Given the description of an element on the screen output the (x, y) to click on. 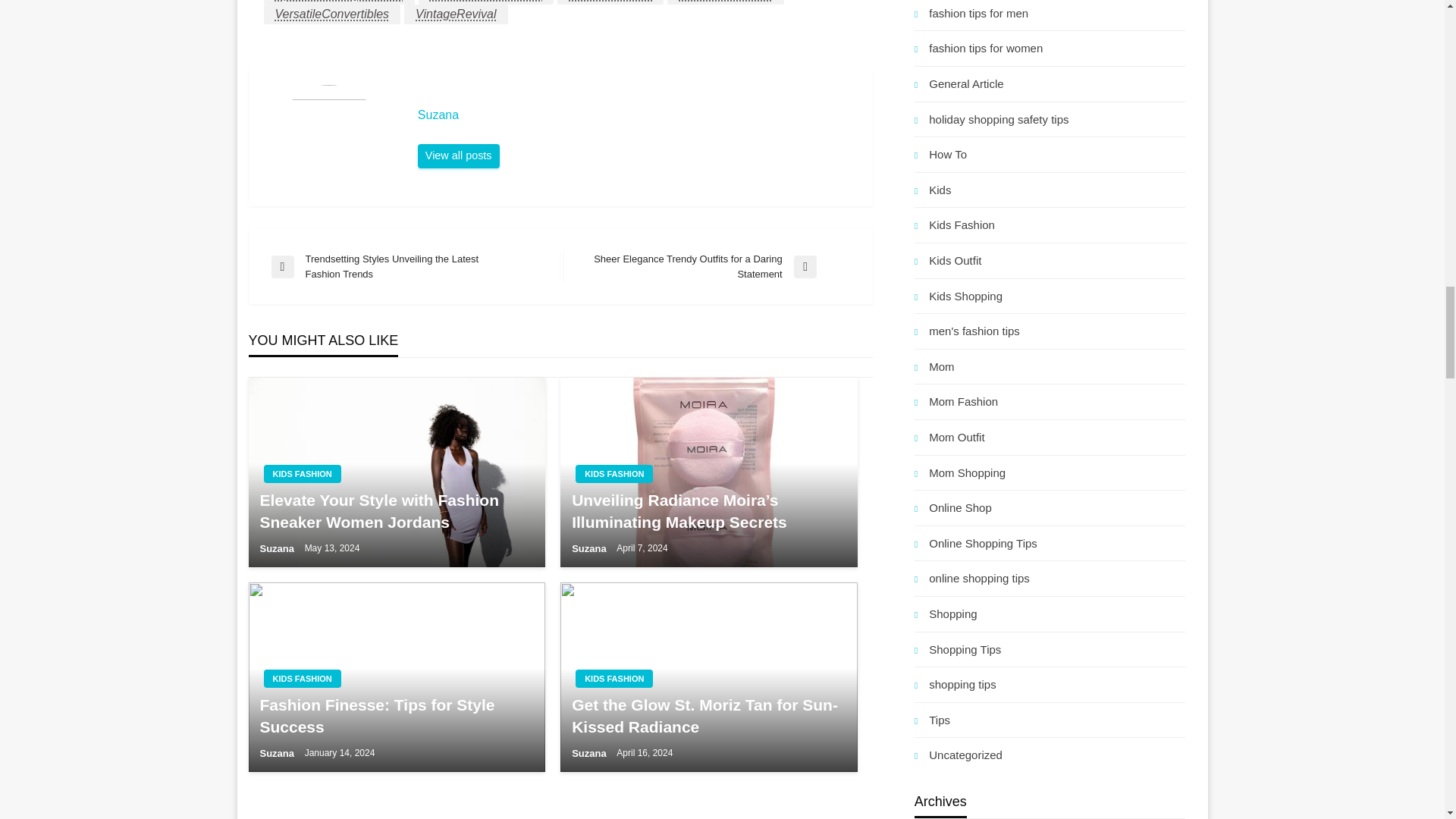
VersatileConvertibles (332, 14)
Suzana (637, 114)
OpulentGoldStyles2022 (338, 2)
VintageRevival (455, 14)
TimelessClassics (724, 2)
Suzana (458, 156)
StatementLinks (610, 2)
PersonalizedCharms (486, 2)
Suzana (637, 114)
